Given the description of an element on the screen output the (x, y) to click on. 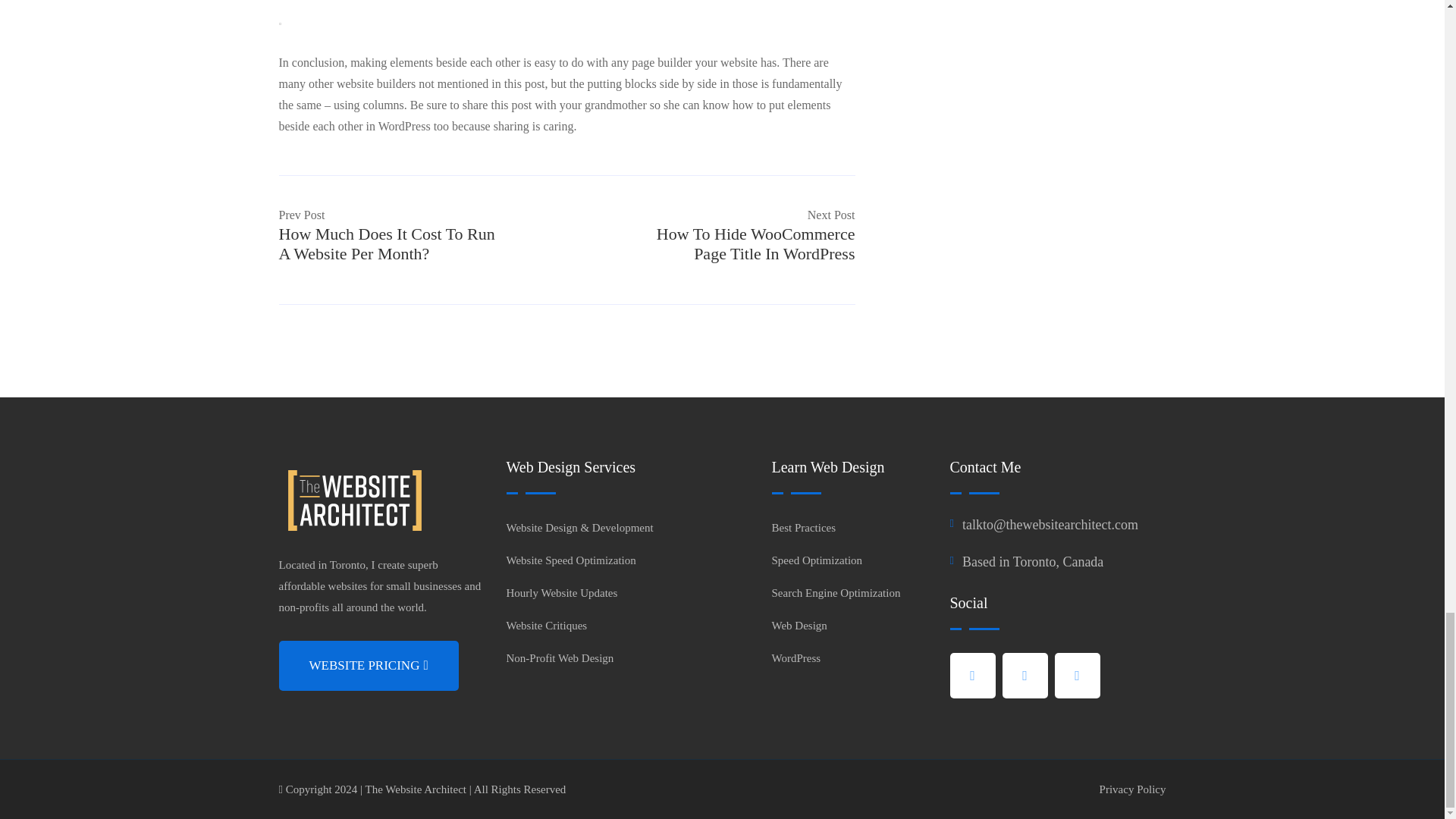
Prev Post (301, 214)
How To Hide WooCommerce Page Title In WordPress (756, 243)
How Much Does It Cost To Run A Website Per Month? (387, 243)
Next Post (832, 214)
